Given the description of an element on the screen output the (x, y) to click on. 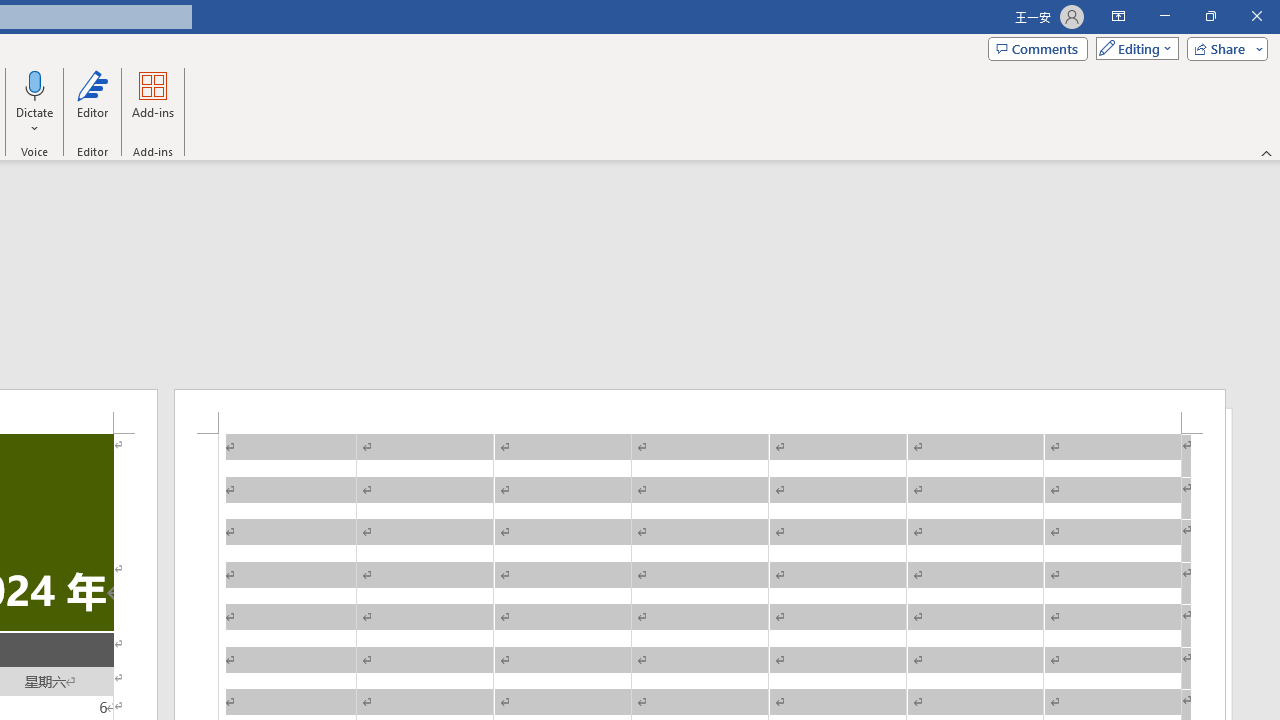
Mode (1133, 47)
